Given the description of an element on the screen output the (x, y) to click on. 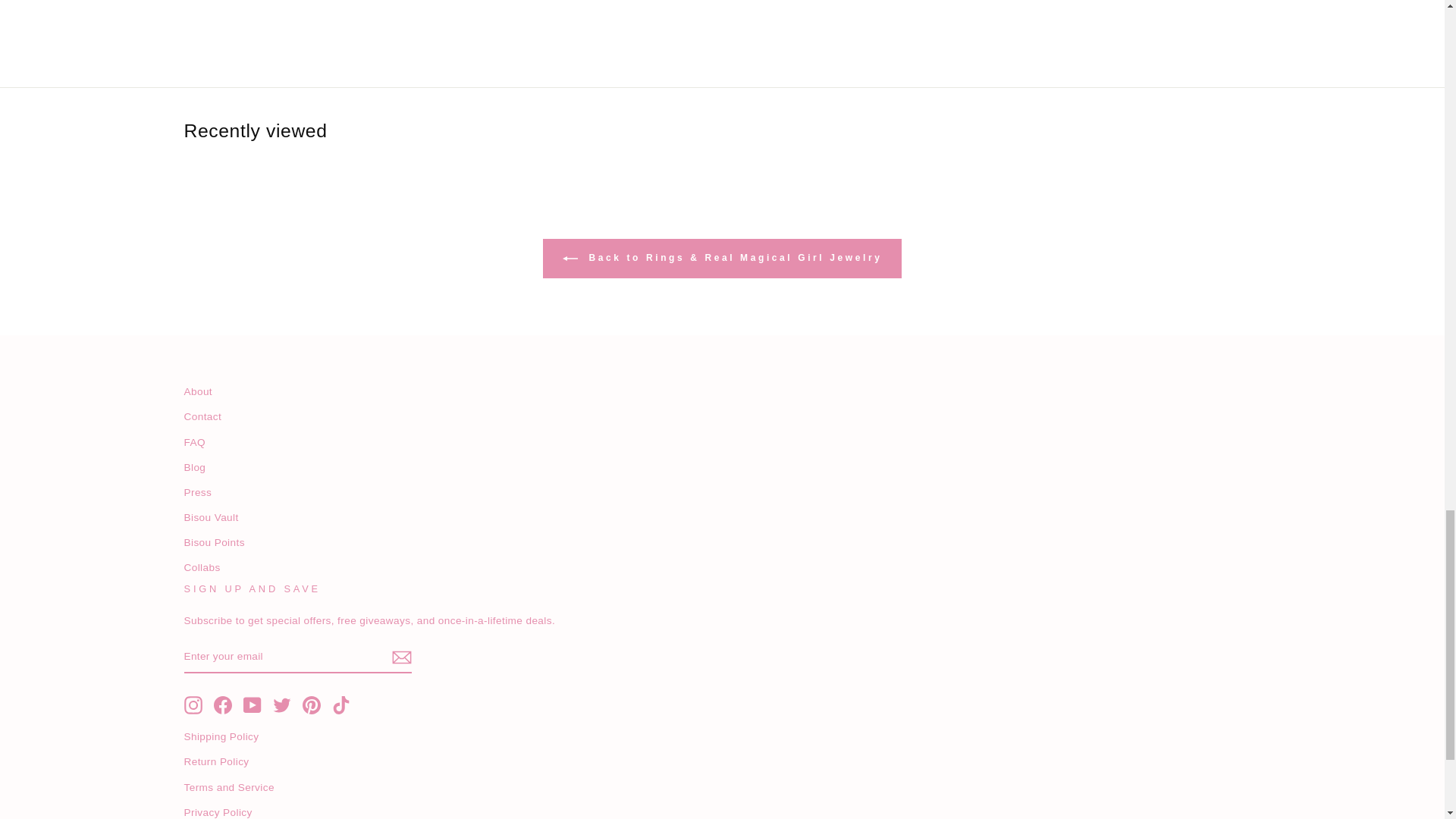
Bisoulovely on YouTube (251, 705)
Bisoulovely on Instagram (192, 705)
Bisoulovely on Facebook (222, 705)
